Given the description of an element on the screen output the (x, y) to click on. 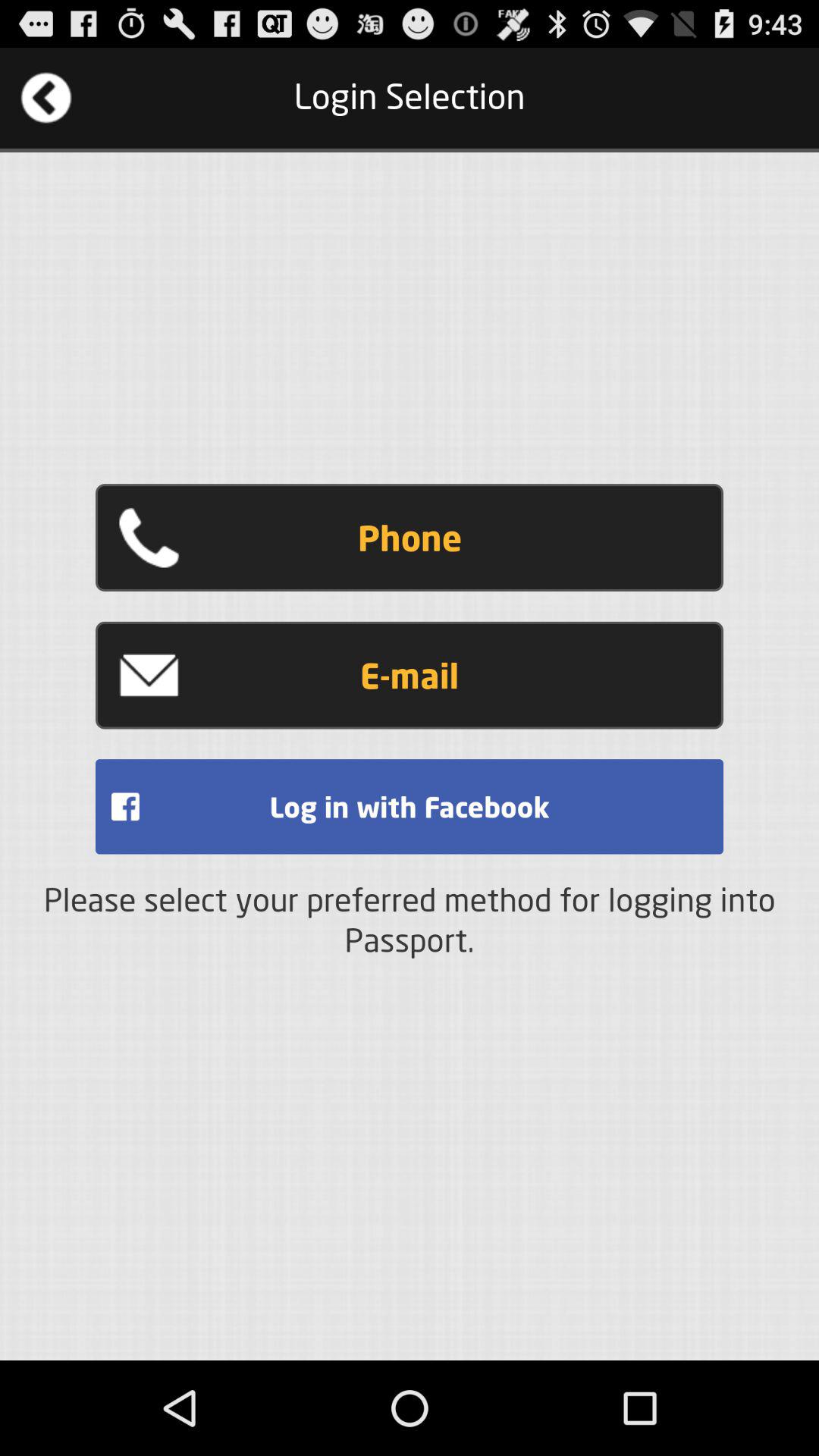
scroll to phone icon (409, 537)
